Given the description of an element on the screen output the (x, y) to click on. 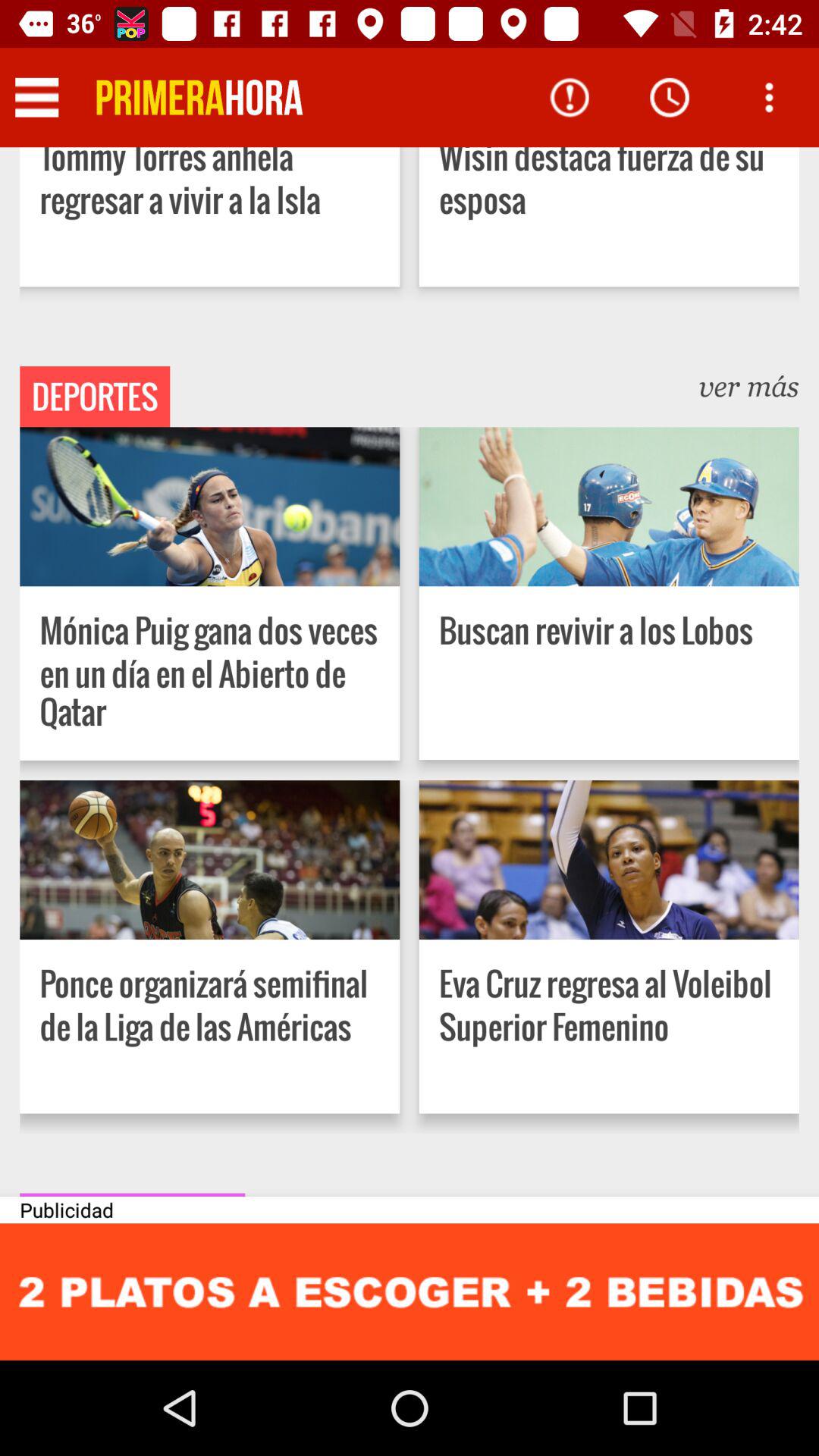
view options (769, 97)
